Given the description of an element on the screen output the (x, y) to click on. 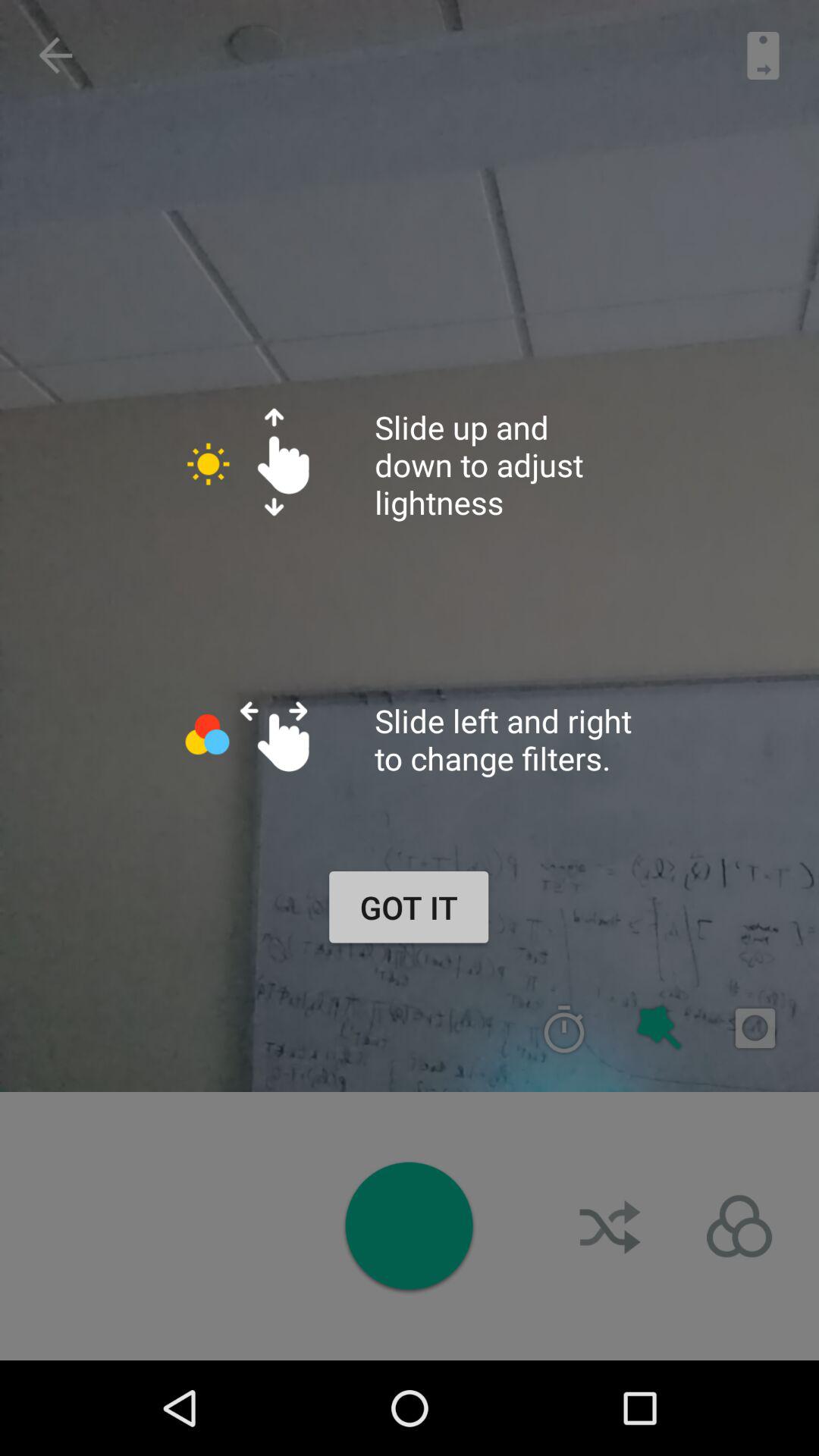
setting (739, 1226)
